Given the description of an element on the screen output the (x, y) to click on. 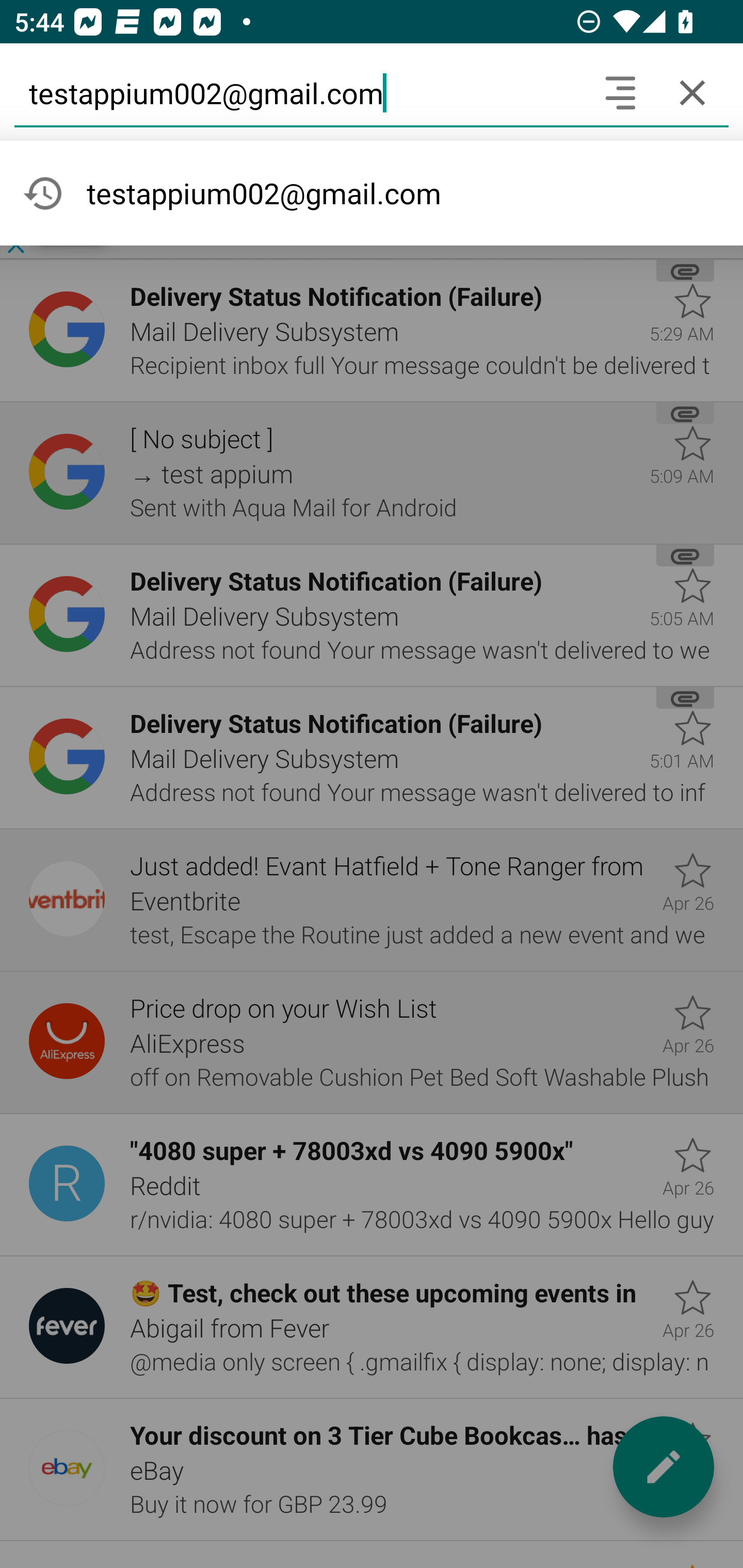
testappium002@gmail.com (298, 92)
Search headers and text (619, 92)
Cancel (692, 92)
